Given the description of an element on the screen output the (x, y) to click on. 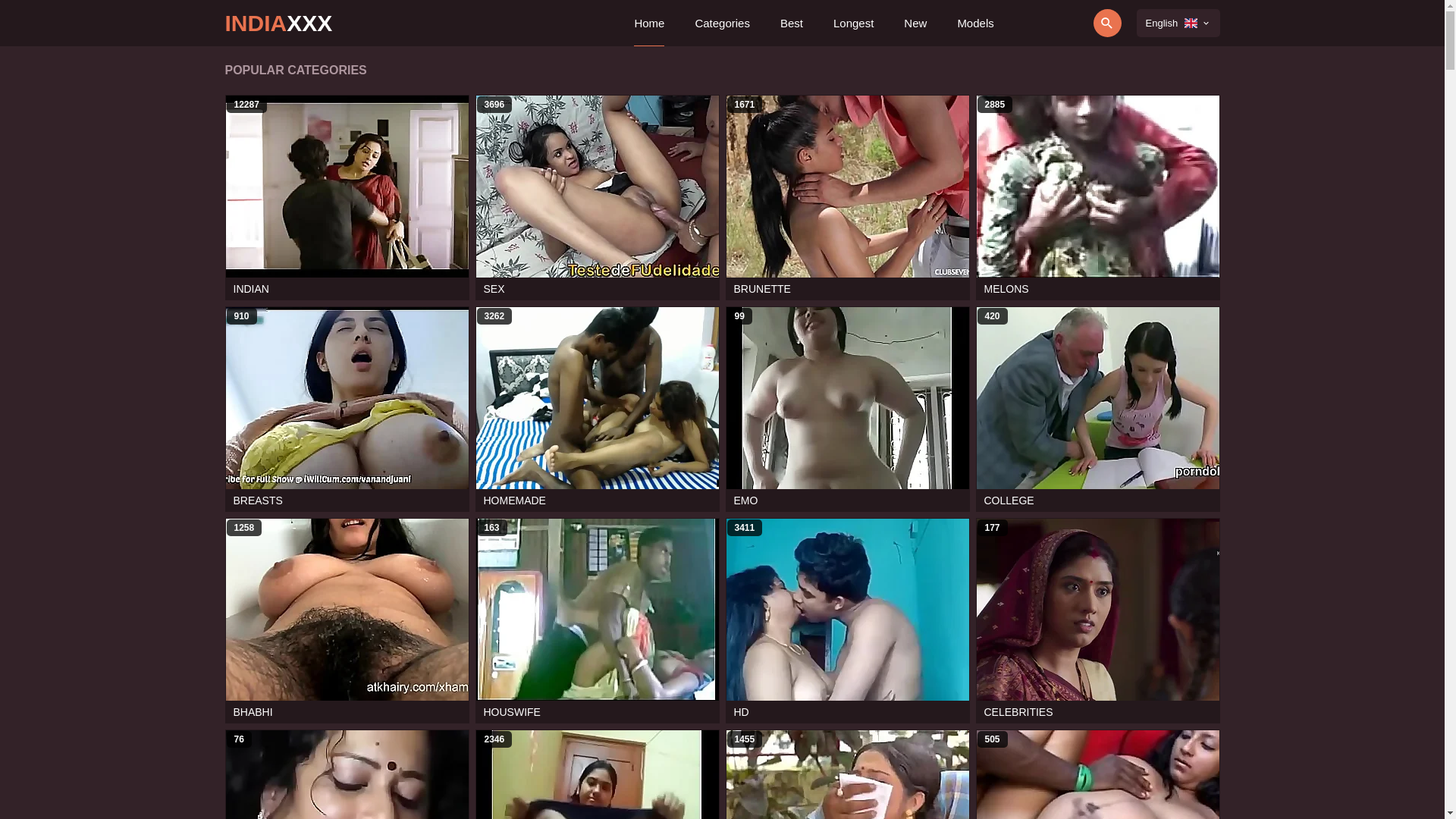
3696
SEX Element type: text (596, 197)
177
CELEBRITIES Element type: text (1097, 620)
3262
HOMEMADE Element type: text (596, 408)
12287
INDIAN Element type: text (346, 197)
99
EMO Element type: text (846, 408)
1258
BHABHI Element type: text (346, 620)
910
BREASTS Element type: text (346, 408)
Longest Element type: text (853, 22)
Best Element type: text (791, 22)
Home Element type: text (648, 22)
New Element type: text (914, 22)
2885
MELONS Element type: text (1097, 197)
1671
BRUNETTE Element type: text (846, 197)
163
HOUSWIFE Element type: text (596, 620)
INDIAXXX Element type: text (278, 23)
3411
HD Element type: text (846, 620)
English Element type: text (1178, 23)
Search Element type: text (1064, 23)
Categories Element type: text (721, 22)
Models Element type: text (975, 22)
420
COLLEGE Element type: text (1097, 408)
